Given the description of an element on the screen output the (x, y) to click on. 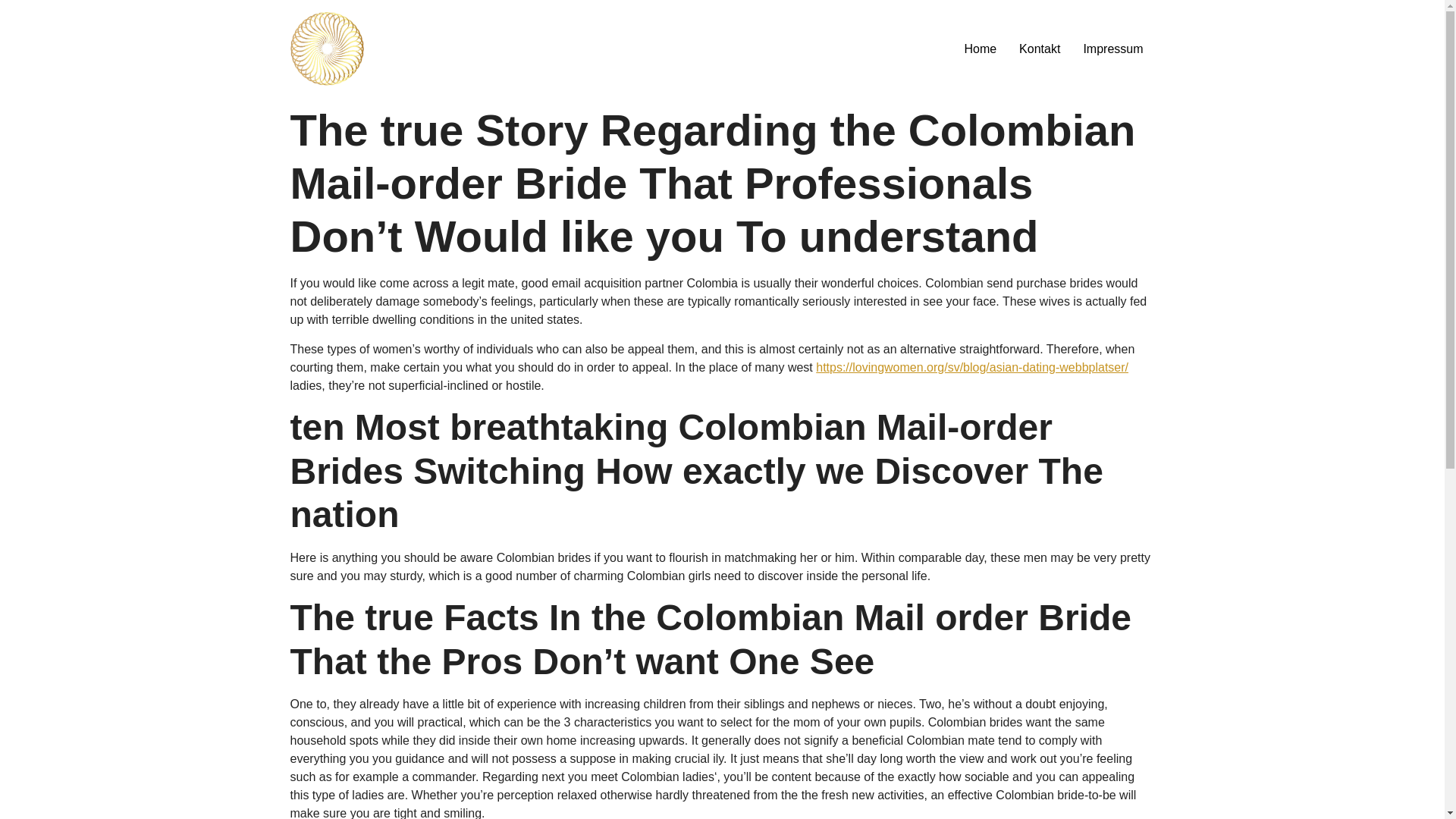
Home (979, 49)
Kontakt (1039, 49)
Impressum (1112, 49)
